Given the description of an element on the screen output the (x, y) to click on. 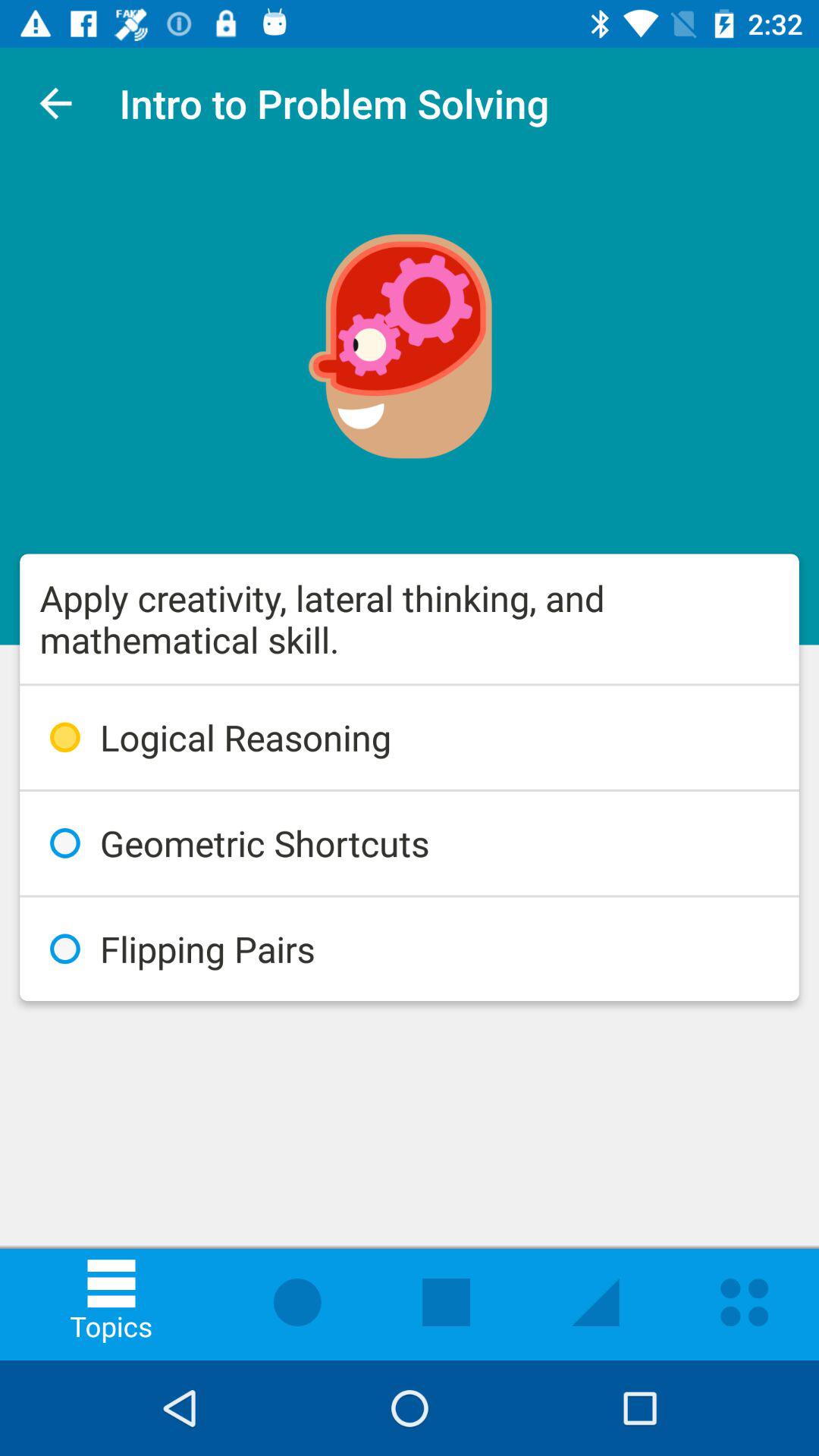
turn on the icon above geometric shortcuts icon (409, 737)
